Given the description of an element on the screen output the (x, y) to click on. 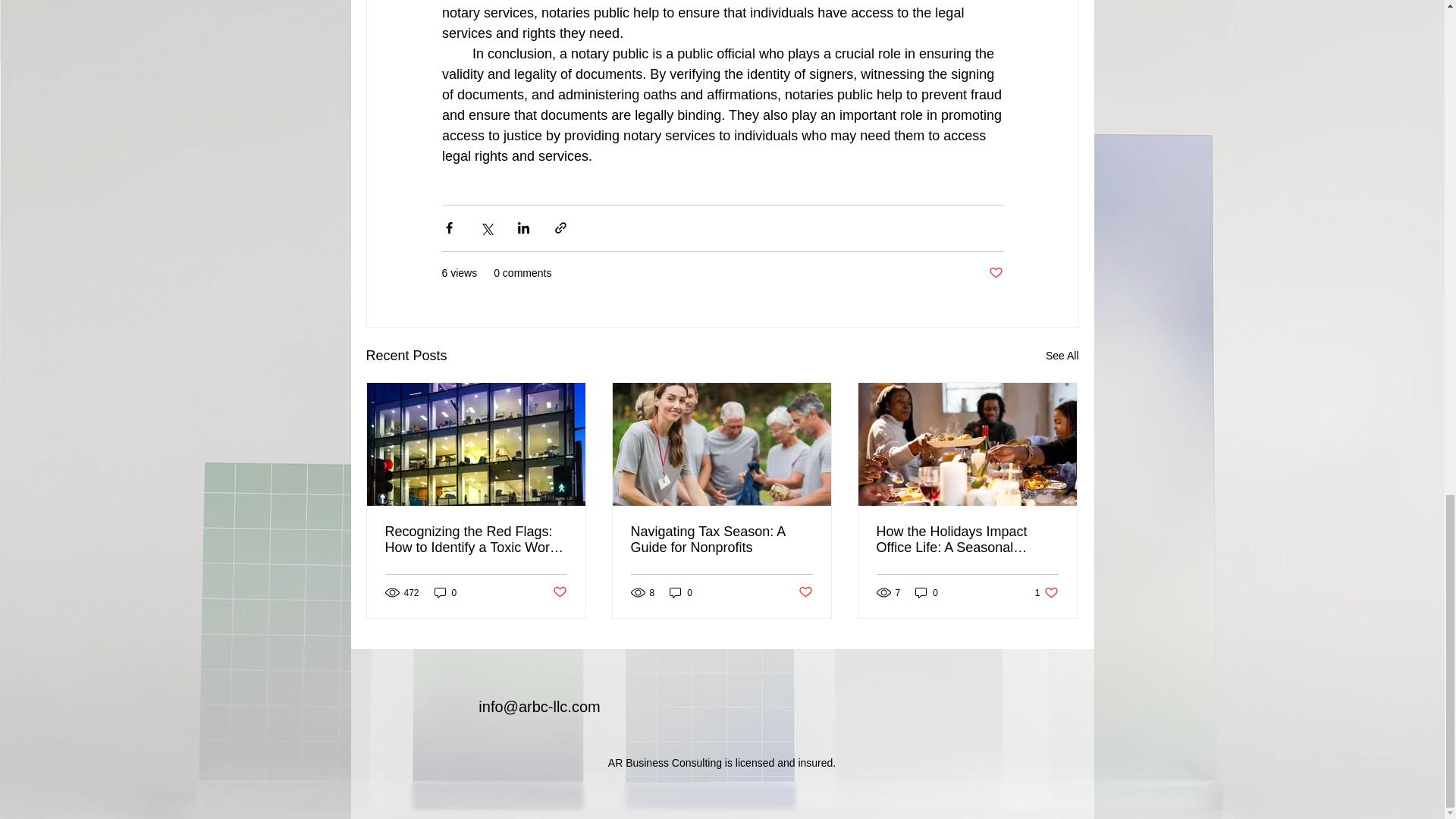
How the Holidays Impact Office Life: A Seasonal Reflection (967, 540)
See All (1061, 355)
0 (445, 592)
Post not marked as liked (558, 592)
0 (926, 592)
Post not marked as liked (995, 273)
Navigating Tax Season: A Guide for Nonprofits (721, 540)
0 (681, 592)
Post not marked as liked (804, 592)
